Given the description of an element on the screen output the (x, y) to click on. 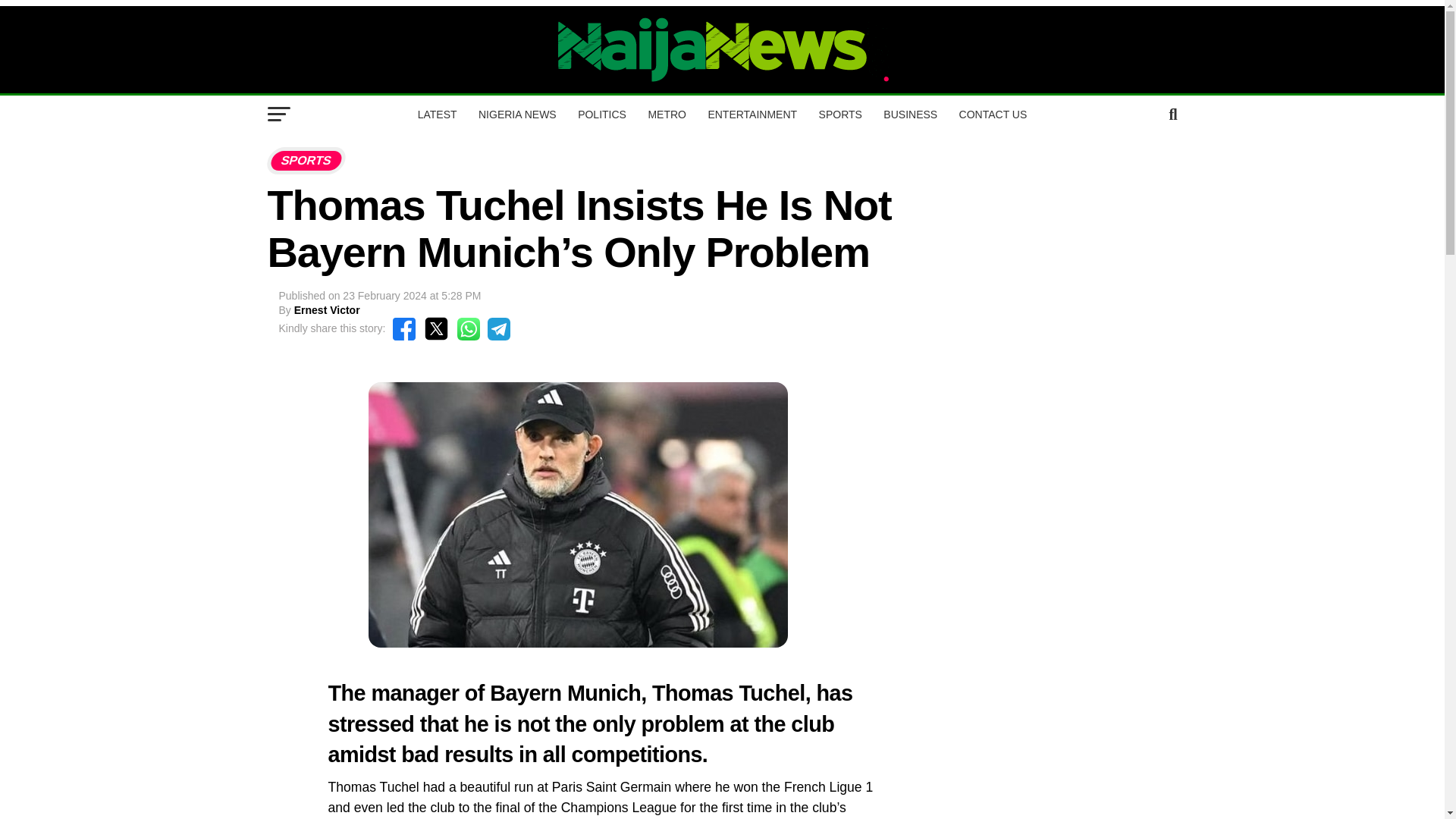
Posts by Ernest Victor (326, 309)
SPORTS (839, 114)
BUSINESS (910, 114)
Ernest Victor (326, 309)
METRO (667, 114)
LATEST (437, 114)
The manager of Bayern Munich, Thomas Tuchel, (568, 692)
CONTACT US (993, 114)
POLITICS (601, 114)
NIGERIA NEWS (517, 114)
